Given the description of an element on the screen output the (x, y) to click on. 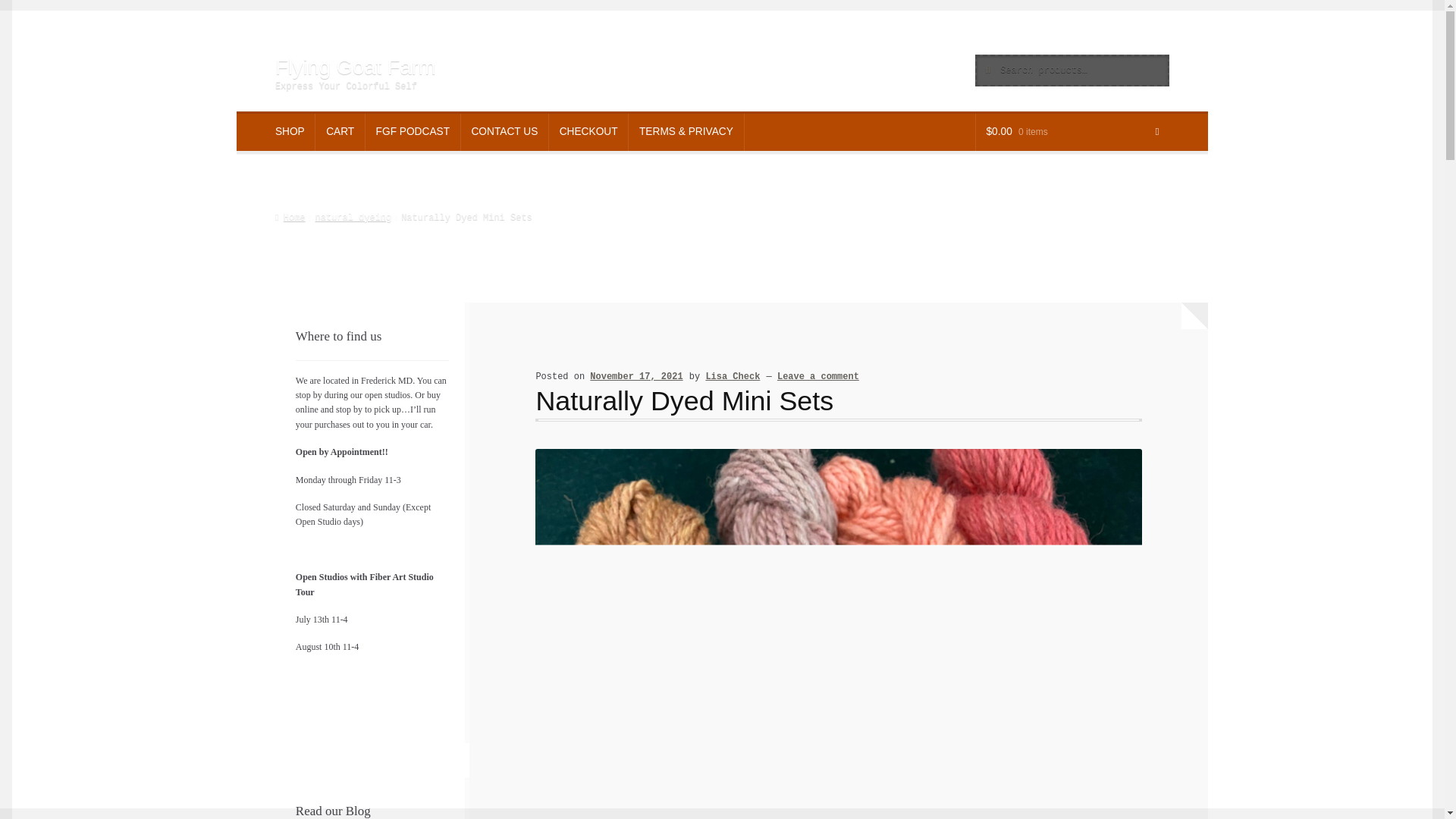
CONTACT US (504, 132)
Home (290, 217)
FGF PODCAST (412, 132)
SHOP (289, 132)
November 17, 2021 (635, 376)
CHECKOUT (587, 132)
CART (339, 132)
Flying Goat Farm (355, 66)
natural dyeing (353, 217)
